Given the description of an element on the screen output the (x, y) to click on. 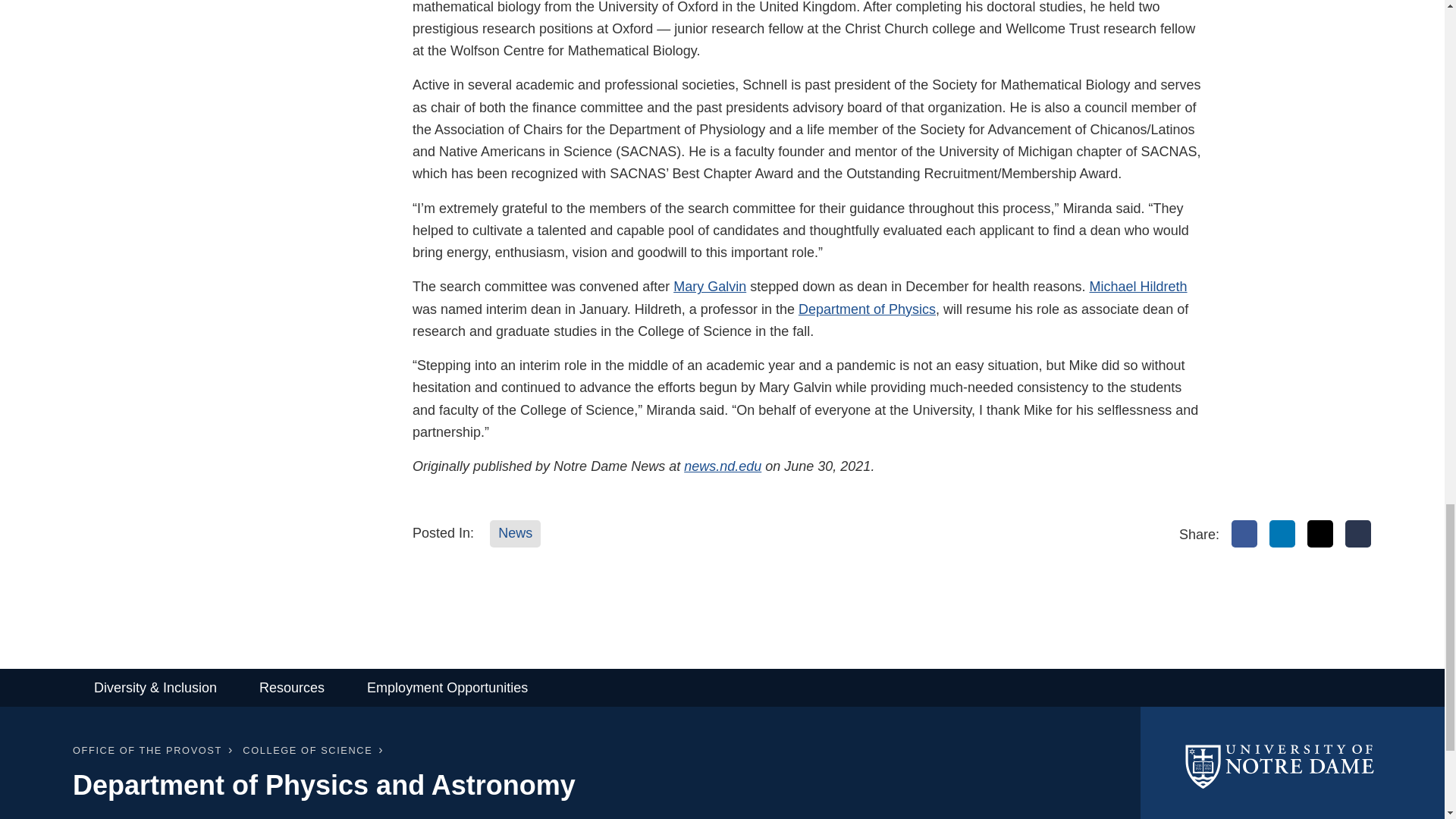
LinkedIn (1282, 533)
Facebook (1244, 533)
Email (1358, 533)
